Given the description of an element on the screen output the (x, y) to click on. 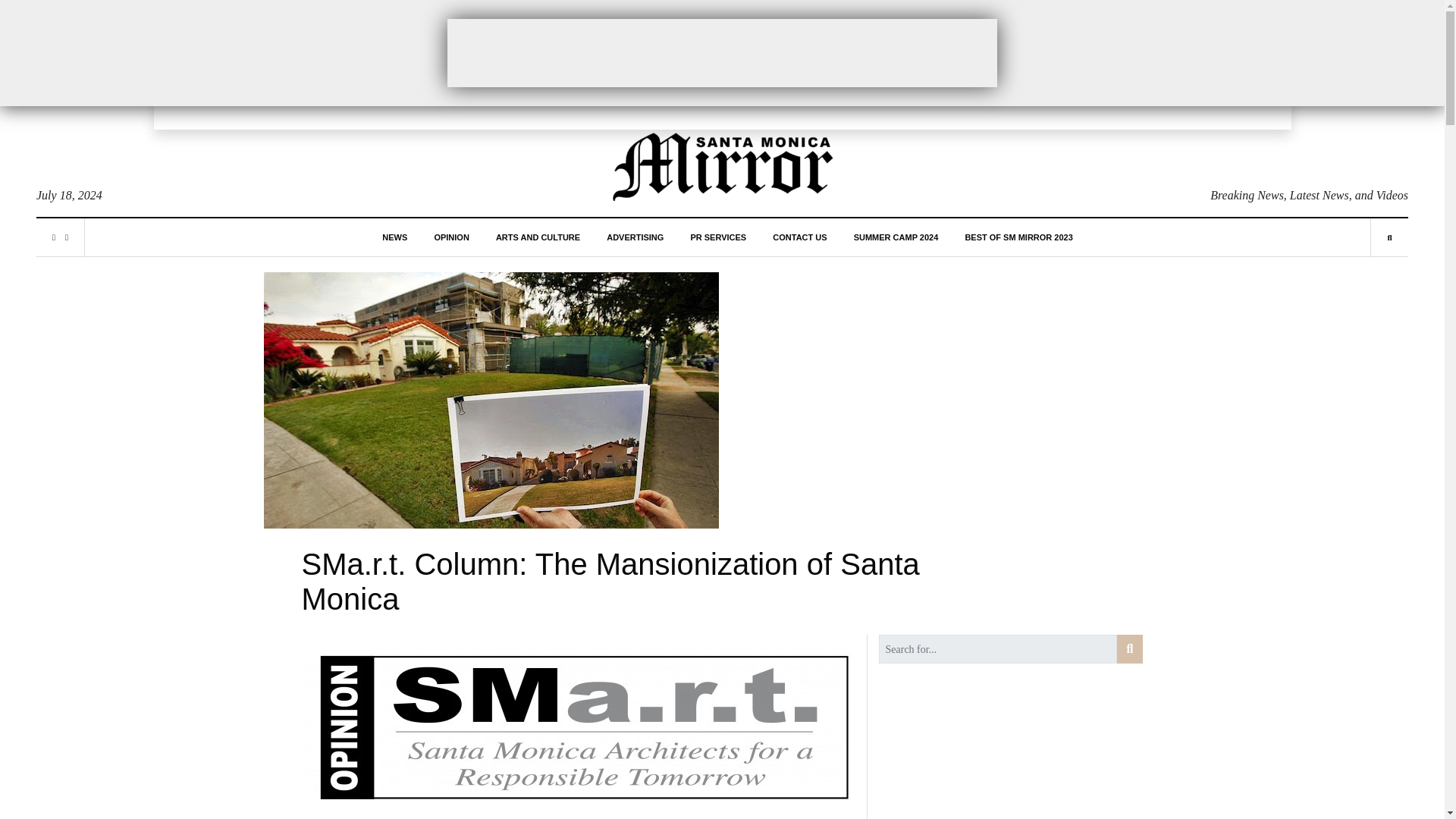
SUMMER CAMP 2024 (896, 237)
BEST OF SM MIRROR 2023 (1017, 237)
OPINION (450, 237)
3rd party ad content (721, 52)
PR SERVICES (717, 237)
CONTACT US (800, 237)
ADVERTISING (635, 237)
ARTS AND CULTURE (537, 237)
